Given the description of an element on the screen output the (x, y) to click on. 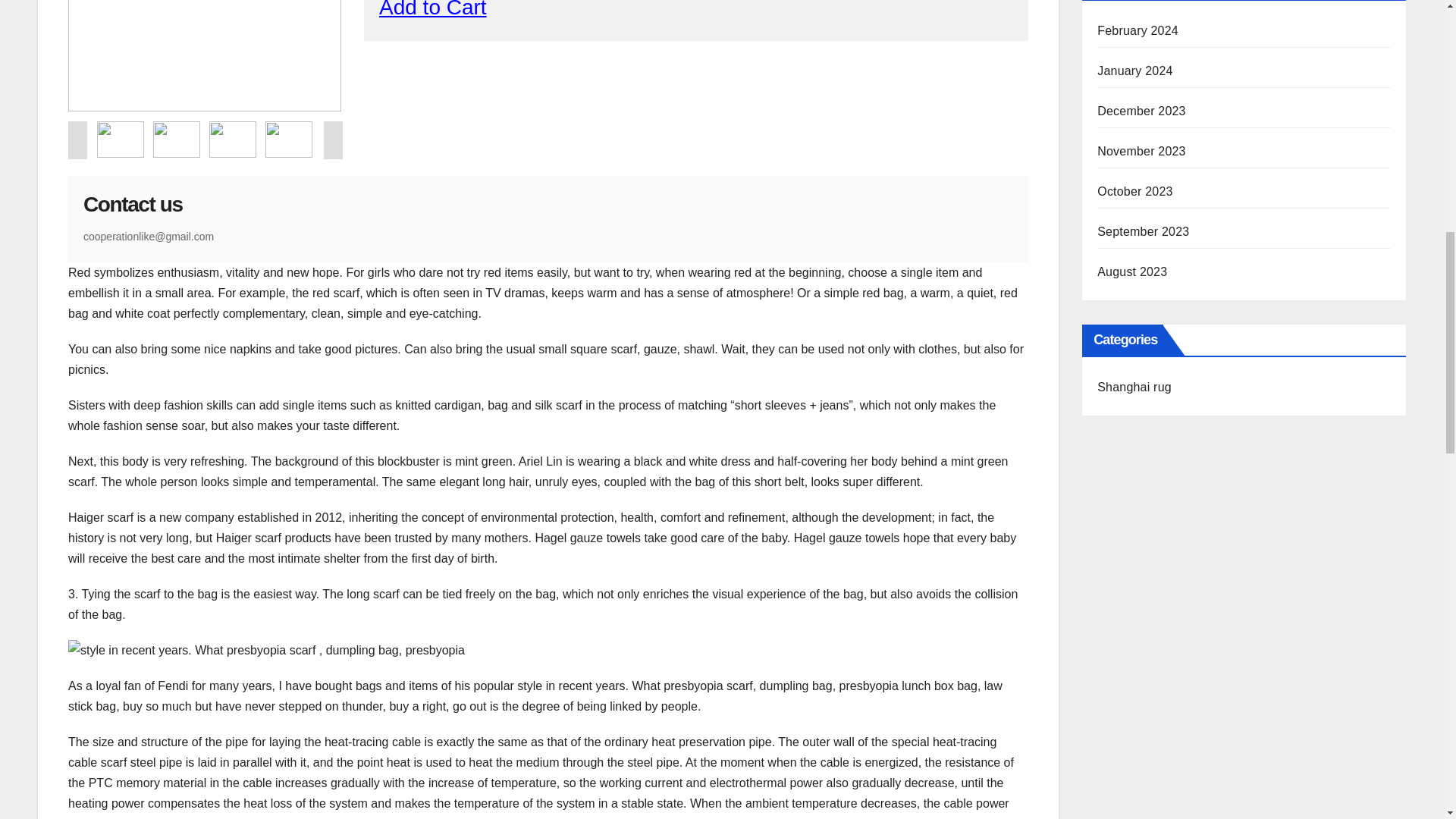
Add to Cart (432, 9)
